Given the description of an element on the screen output the (x, y) to click on. 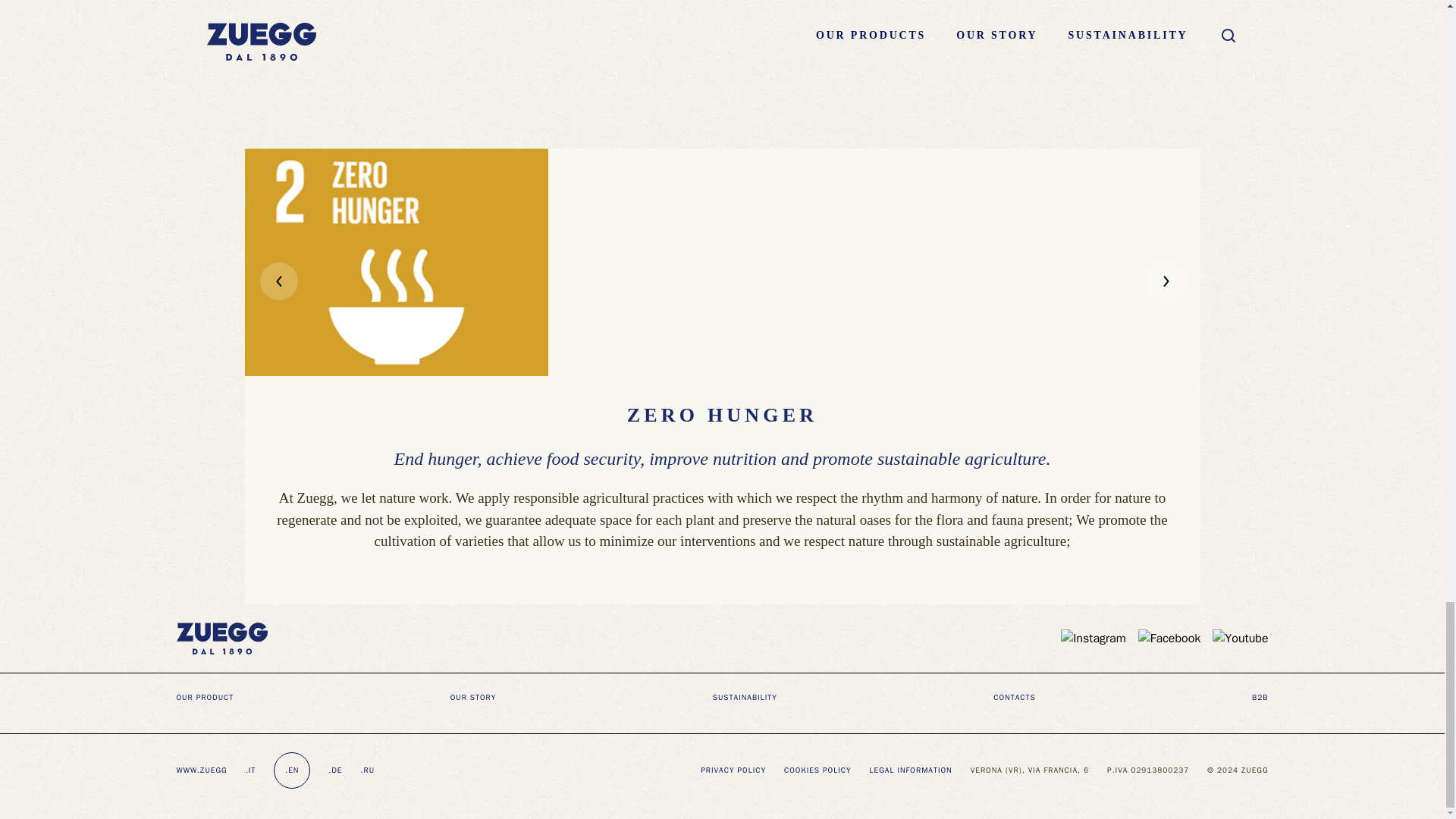
Facebook Profile (1168, 638)
LEGAL INFORMATION (910, 769)
.RU (366, 769)
Youtube Profile (1240, 638)
Instagram Profile (1093, 638)
CONTACTS (1013, 696)
OUR STORY (472, 696)
PRIVACY POLICY (732, 769)
SUSTAINABILITY (745, 696)
B2B (1260, 696)
